Given the description of an element on the screen output the (x, y) to click on. 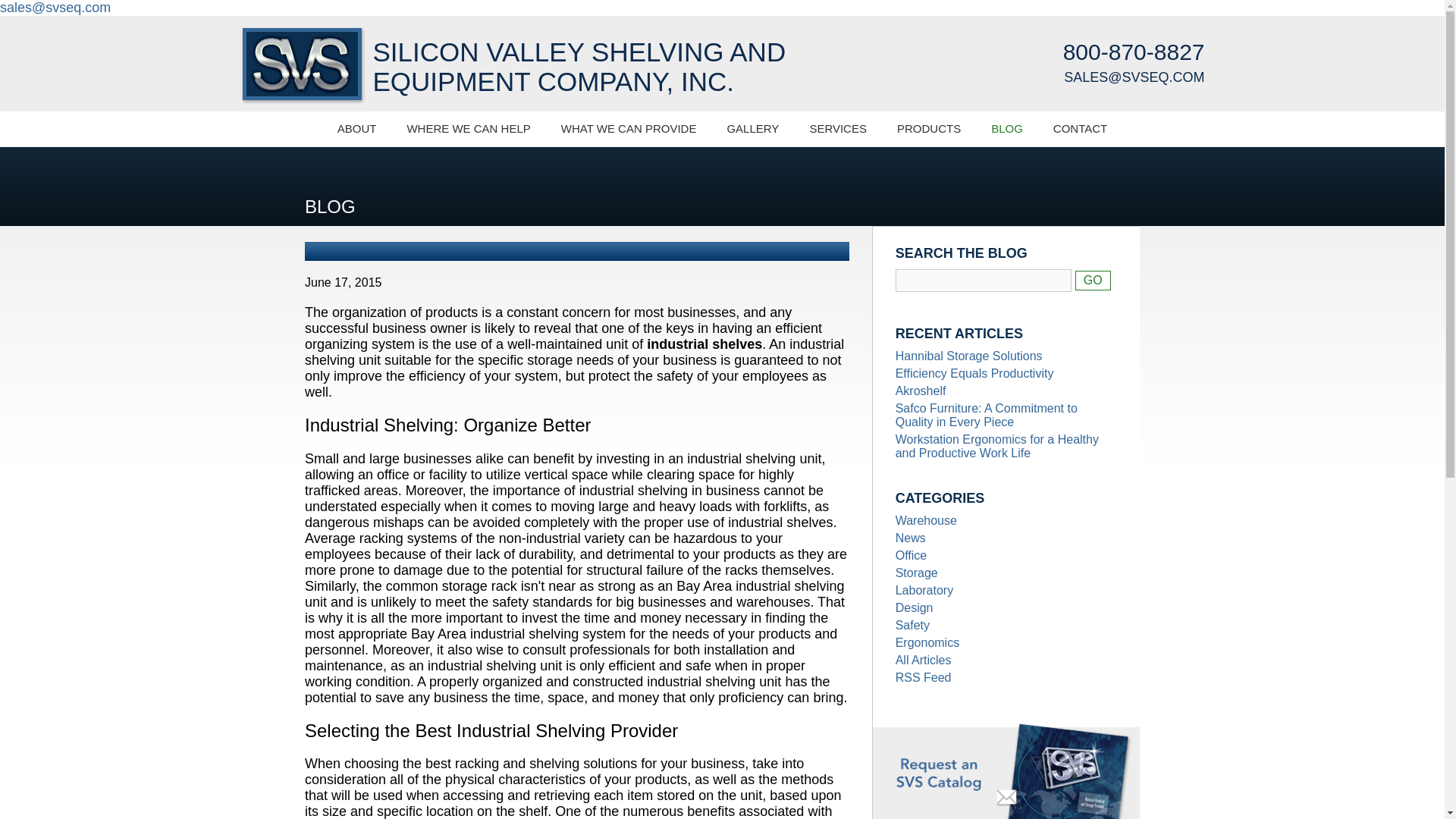
Safco Furniture: A Commitment to Quality in Every Piece (513, 68)
Design (986, 415)
RSS Feed (914, 607)
News (923, 676)
Efficiency Equals Productivity (910, 537)
GO (974, 373)
Ergonomics (1092, 280)
Safety (927, 642)
